Given the description of an element on the screen output the (x, y) to click on. 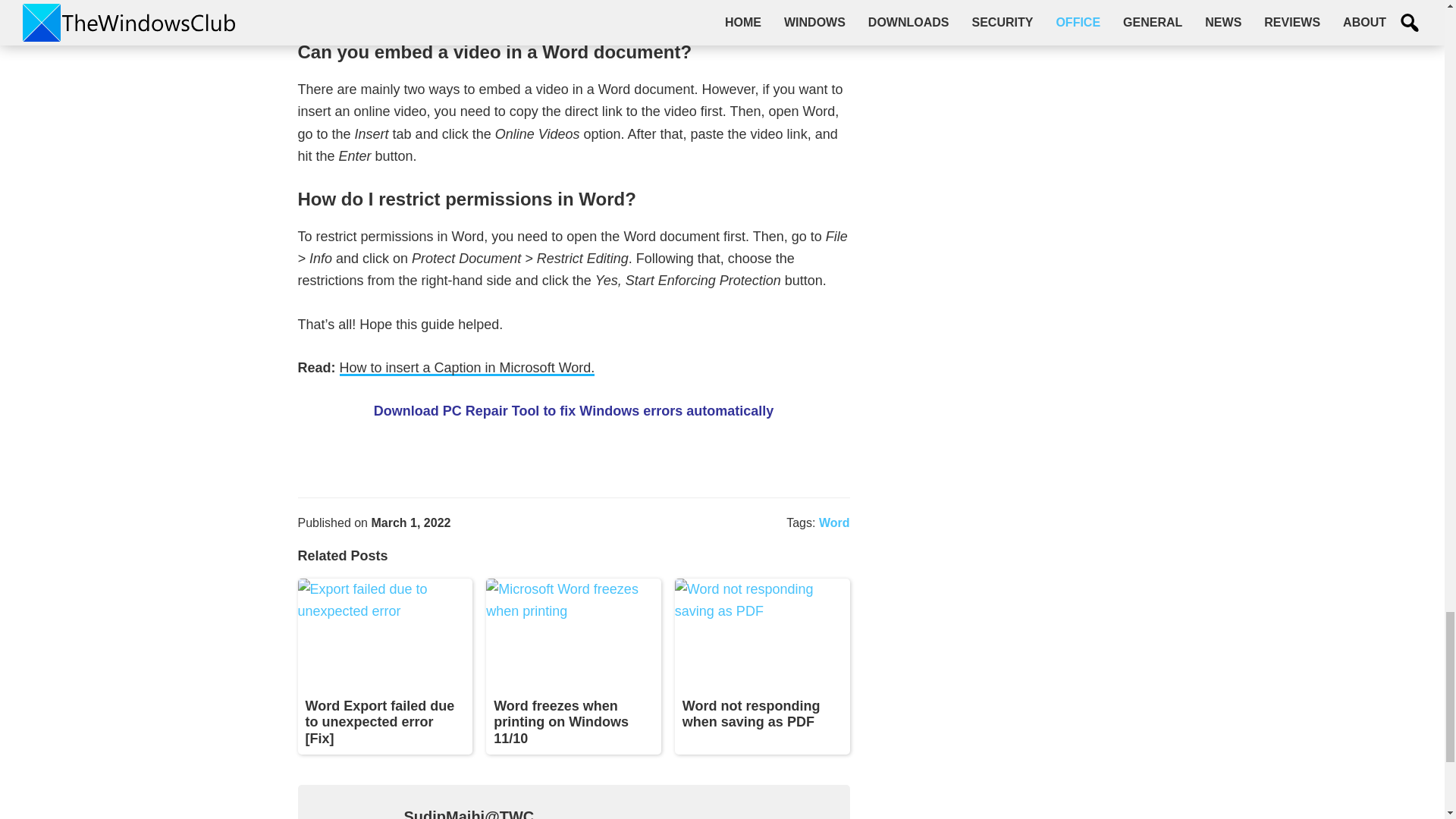
Word not responding when saving as PDF (751, 713)
How to insert a Caption in Microsoft Word. (467, 367)
Word (834, 522)
Download PC Repair Tool to fix Windows errors automatically (574, 410)
